Given the description of an element on the screen output the (x, y) to click on. 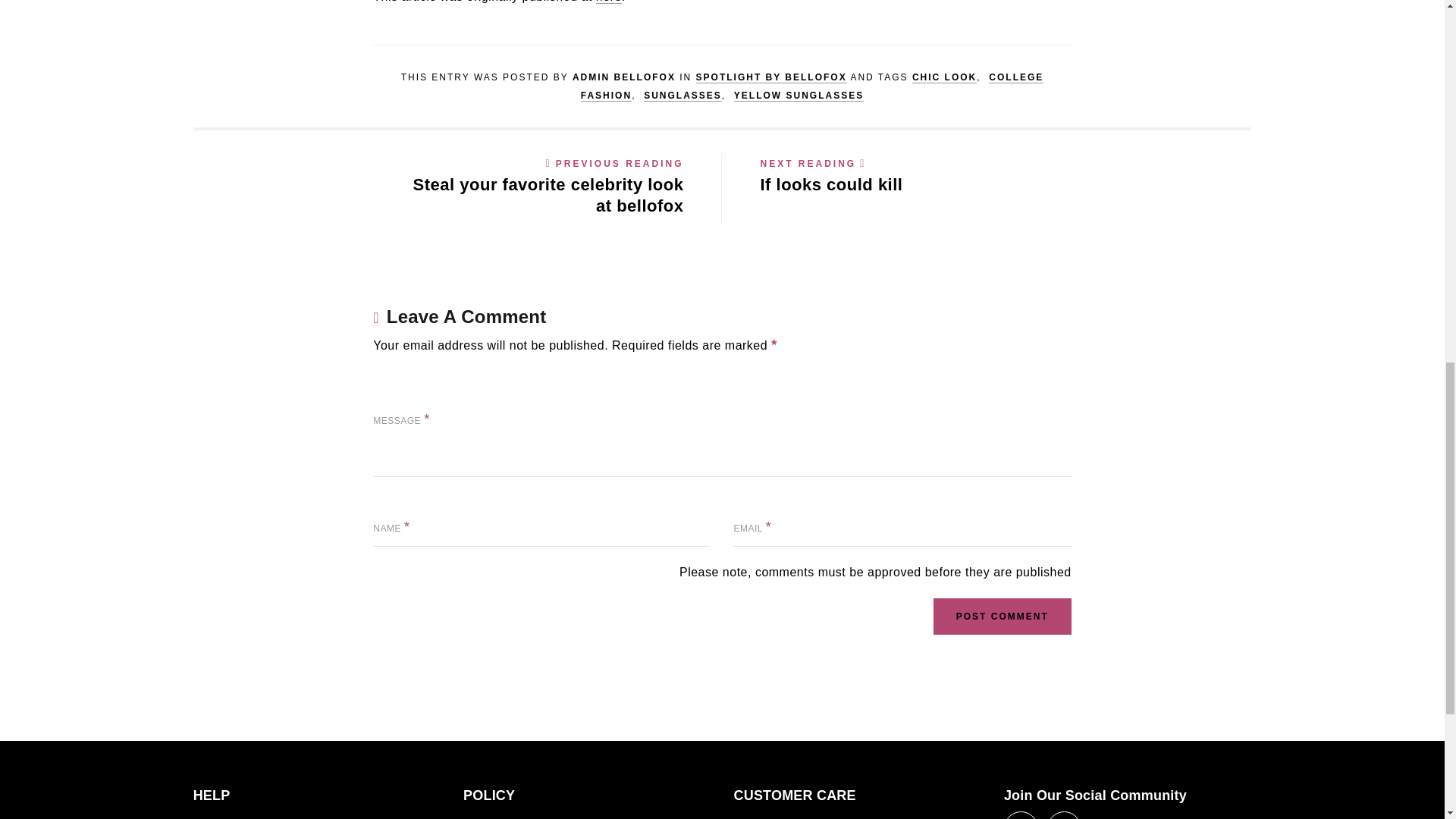
Post comment (1002, 616)
